Given the description of an element on the screen output the (x, y) to click on. 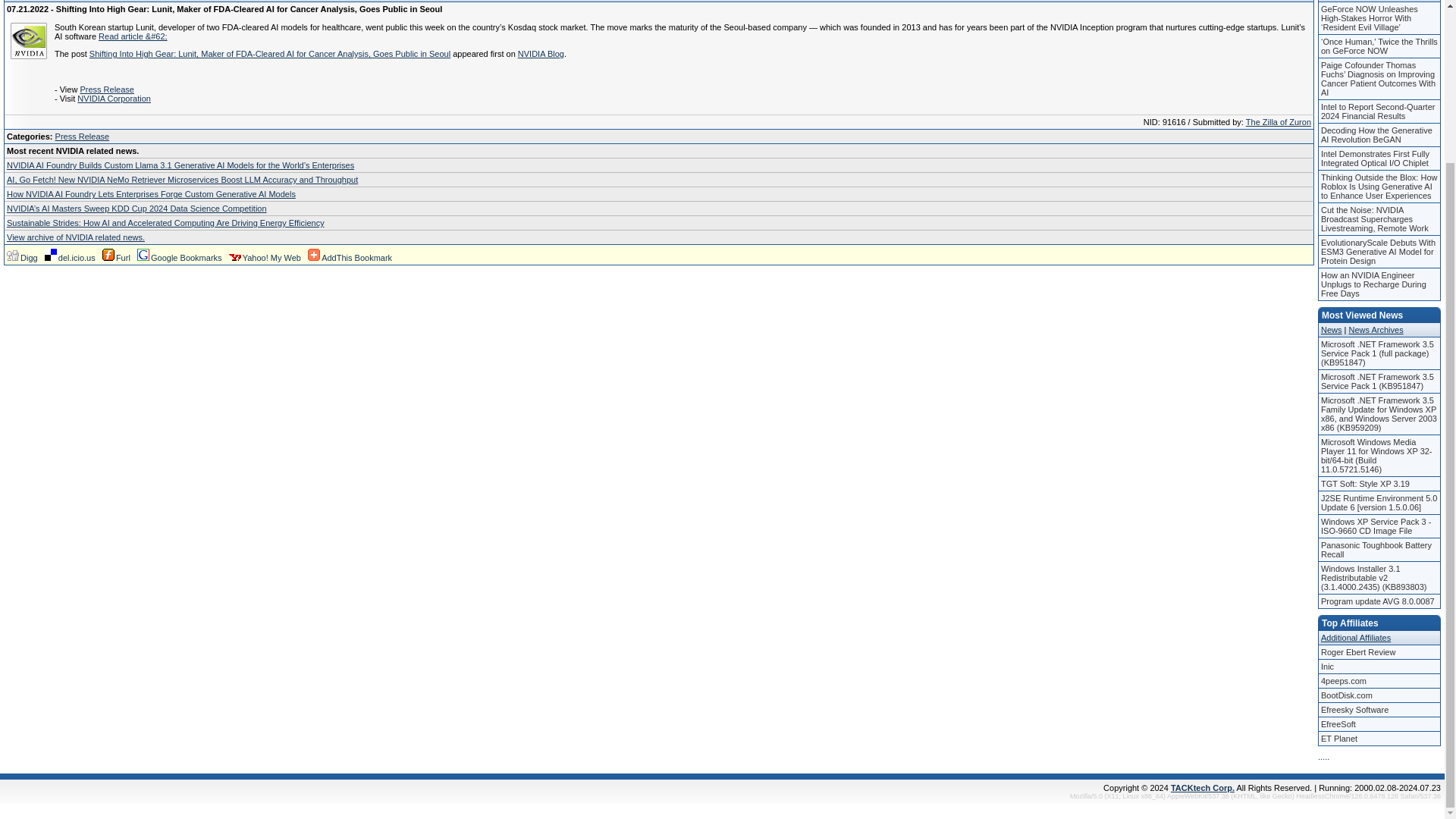
Furl (116, 257)
Press Release (106, 89)
del.icio.us (70, 257)
Add bookmarks to del.icio.us (70, 257)
View posts by The Zilla of Zuron. (1278, 121)
NVIDIA Blog (541, 53)
AddThis Social Bookmark Button (349, 257)
View Press Release Category (82, 135)
View archive of NVIDIA related news. (75, 236)
Press Release (82, 135)
Complete List of Affiliates (1355, 637)
Google Bookmarks (179, 257)
